Given the description of an element on the screen output the (x, y) to click on. 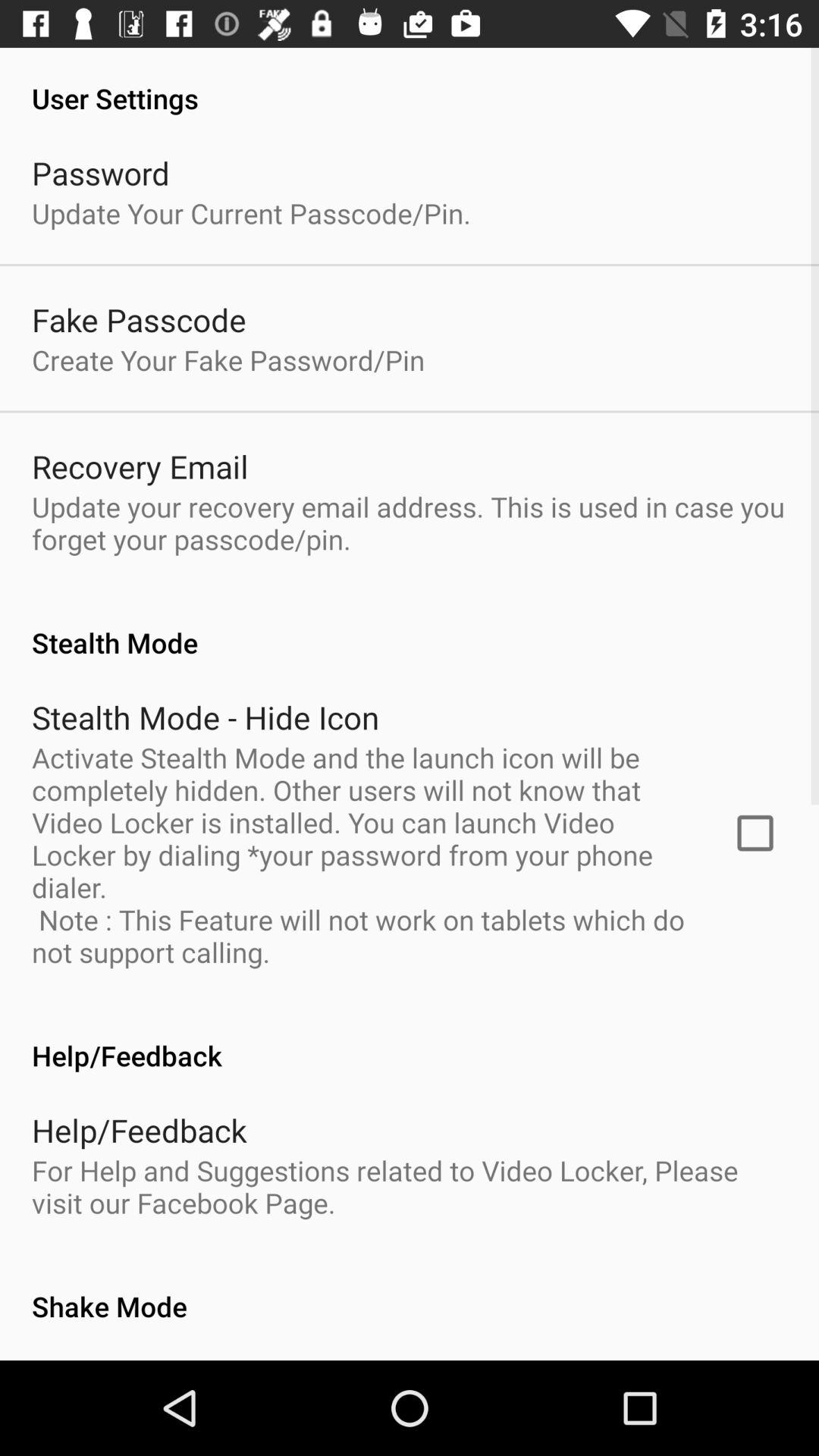
choose the app below shake mode (207, 1359)
